Given the description of an element on the screen output the (x, y) to click on. 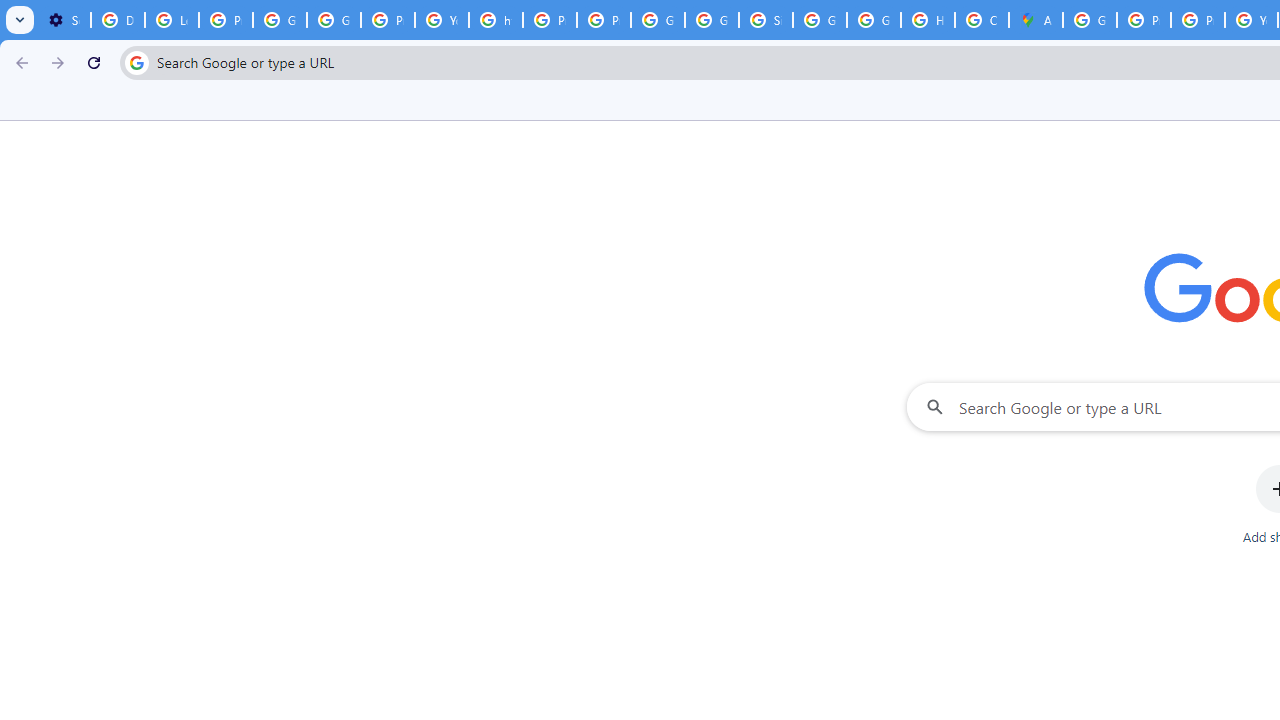
Google Account Help (280, 20)
Privacy Help Center - Policies Help (1197, 20)
Settings - Performance (63, 20)
Privacy Help Center - Policies Help (1144, 20)
Create your Google Account (981, 20)
Sign in - Google Accounts (765, 20)
